Given the description of an element on the screen output the (x, y) to click on. 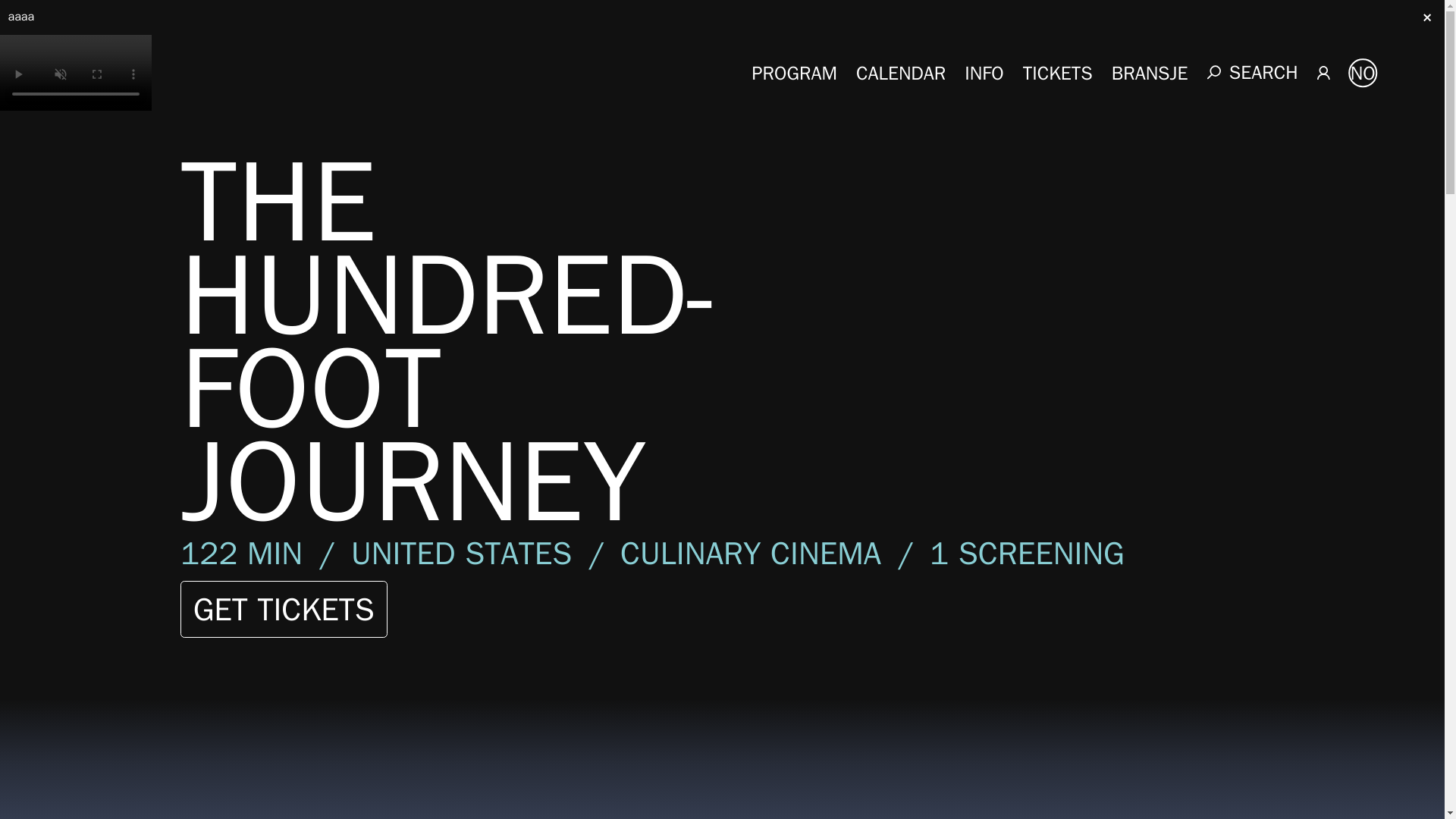
BRANSJE (1150, 72)
GET TICKETS (283, 609)
PROGRAM (794, 72)
CALENDAR (900, 72)
NO (1362, 72)
TICKETS (1058, 72)
SEARCH (1252, 72)
INFO (983, 72)
